Given the description of an element on the screen output the (x, y) to click on. 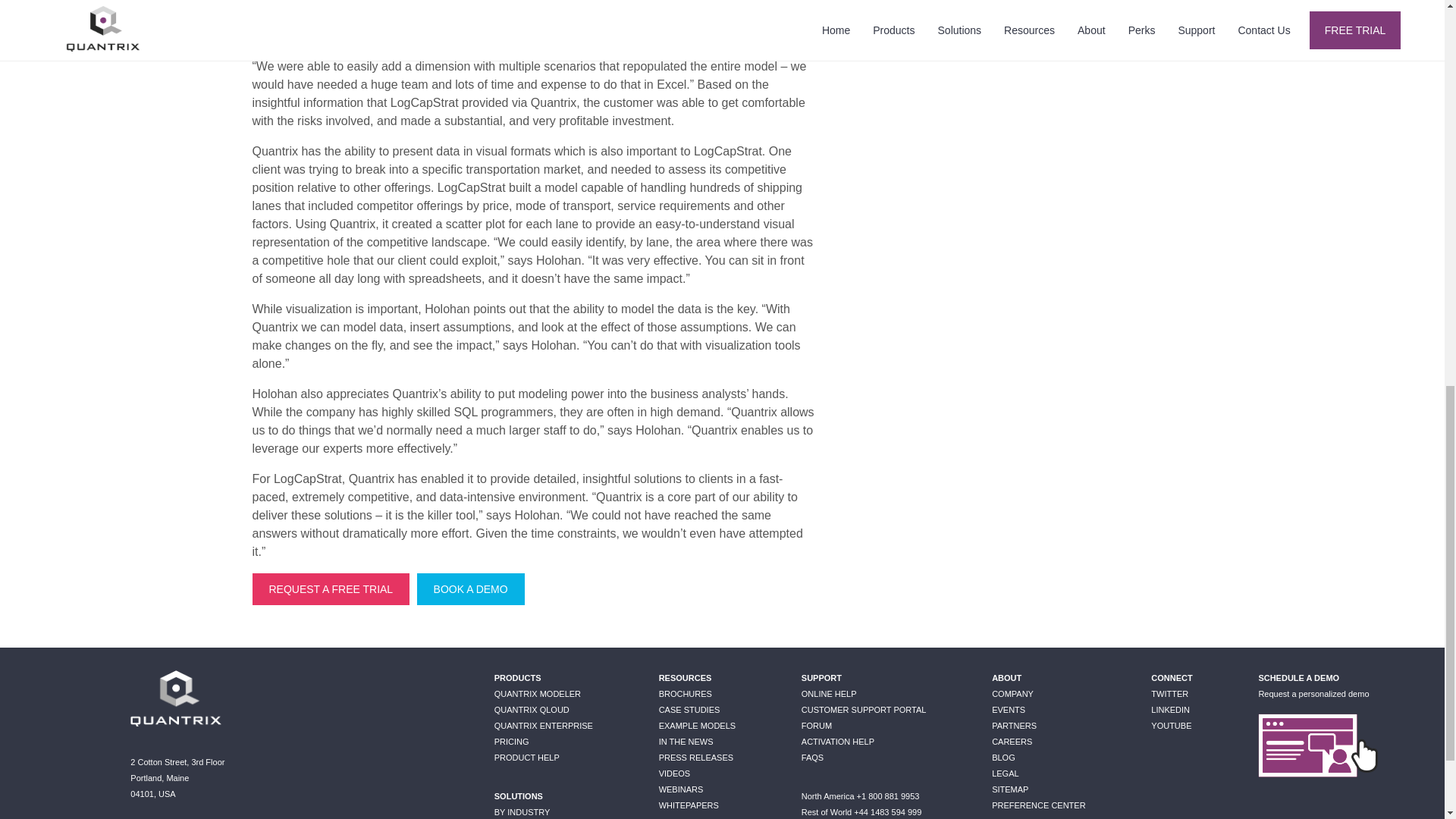
QUANTRIX MODELER (537, 693)
PRODUCTS (518, 677)
BOOK A DEMO (470, 589)
QUANTRIX QLOUD (532, 709)
REQUEST A FREE TRIAL (330, 589)
